Given the description of an element on the screen output the (x, y) to click on. 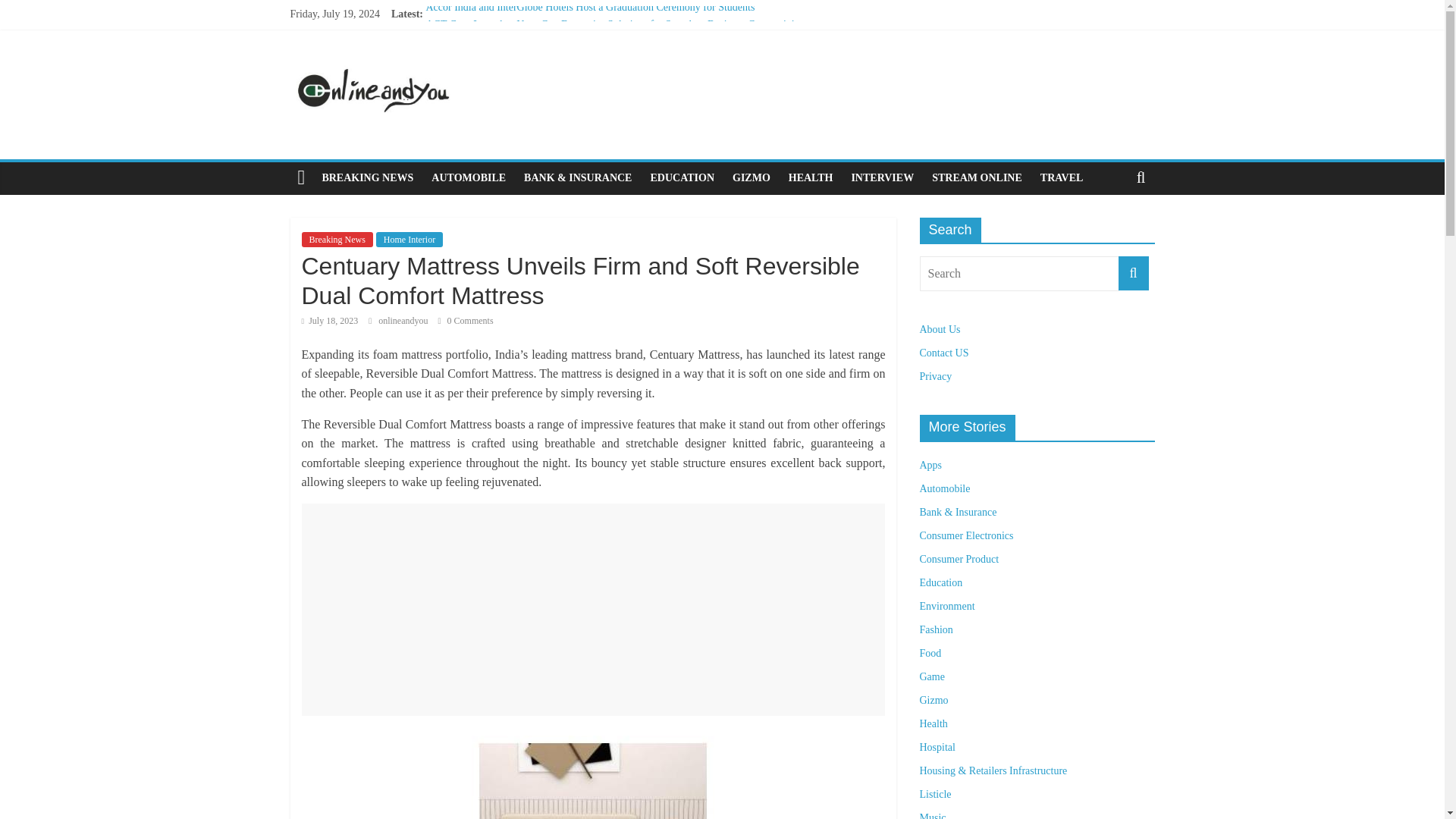
GIZMO (750, 178)
A. O. Smith to acquire Pureit (487, 41)
July 18, 2023 (329, 320)
Home Interior (408, 239)
onlineandyou (403, 320)
HEALTH (810, 178)
A. O. Smith to acquire Pureit (487, 41)
TRAVEL (1061, 178)
BREAKING NEWS (367, 178)
onlineandyou (403, 320)
